Given the description of an element on the screen output the (x, y) to click on. 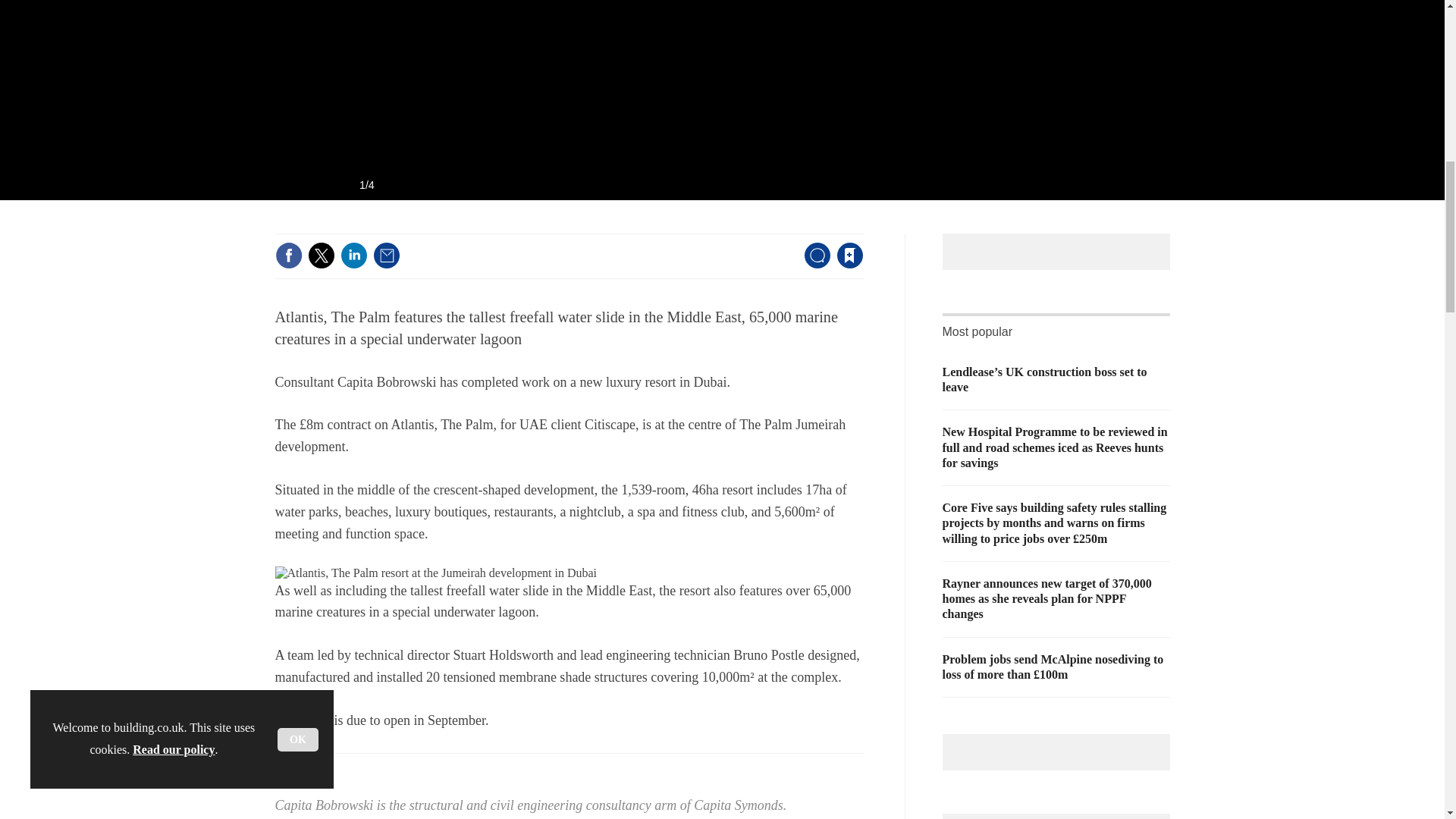
No comments (812, 264)
Share this on Linked in (352, 255)
Email this article (386, 255)
Share this on Facebook (288, 255)
Share this on Twitter (320, 255)
